Given the description of an element on the screen output the (x, y) to click on. 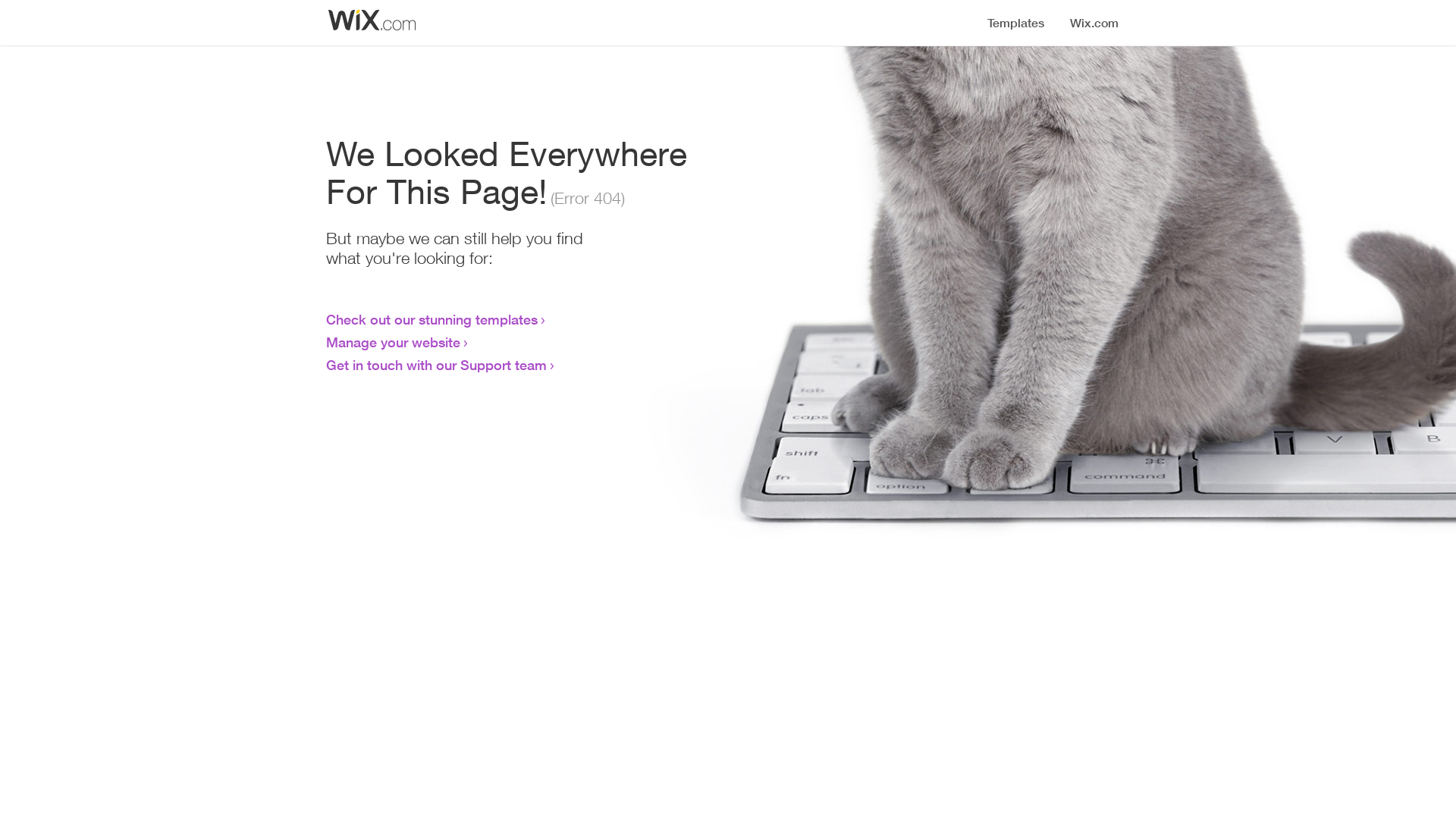
Manage your website Element type: text (393, 341)
Get in touch with our Support team Element type: text (436, 364)
Check out our stunning templates Element type: text (431, 318)
